Given the description of an element on the screen output the (x, y) to click on. 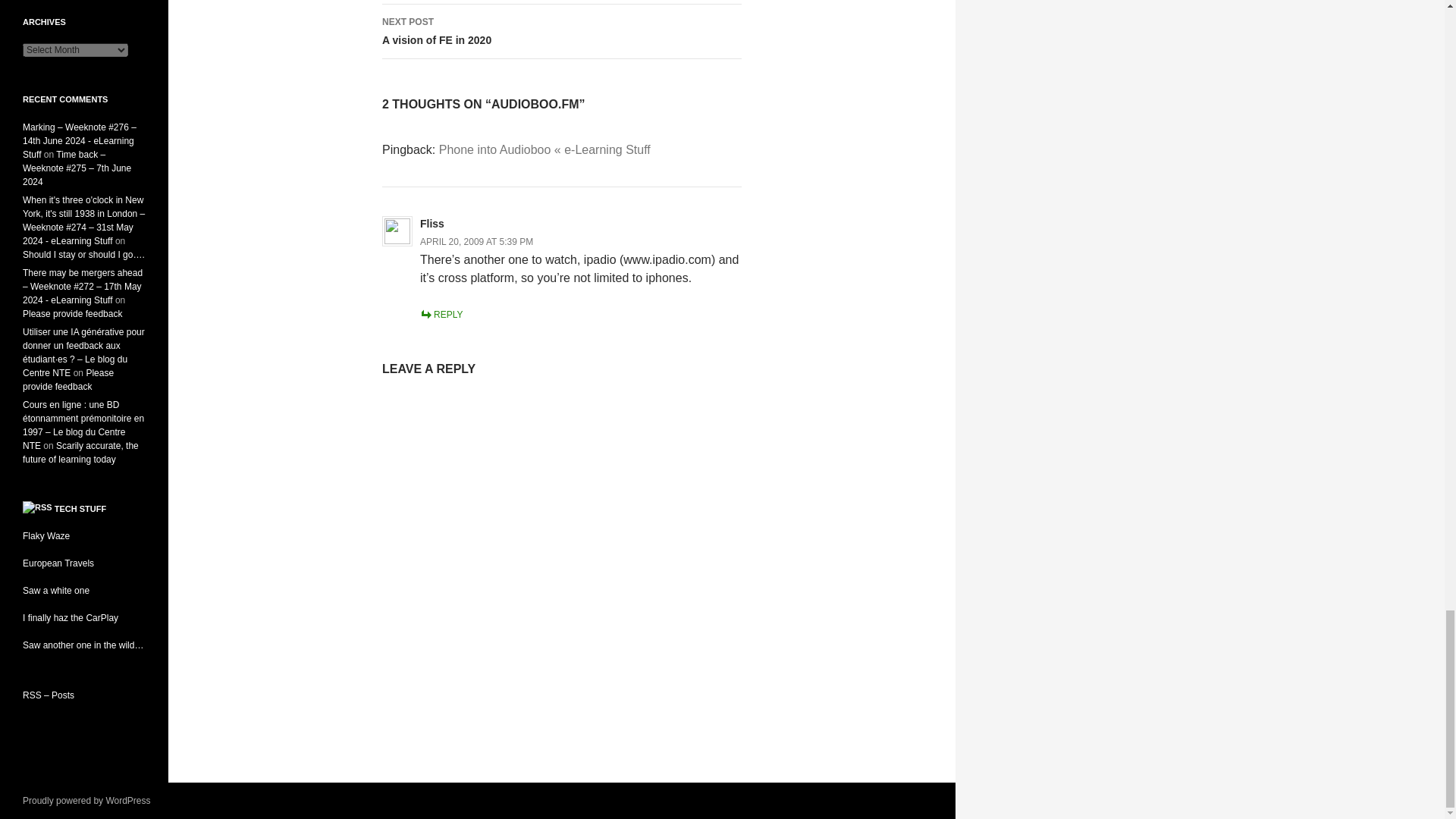
Comment Form (561, 559)
